Given the description of an element on the screen output the (x, y) to click on. 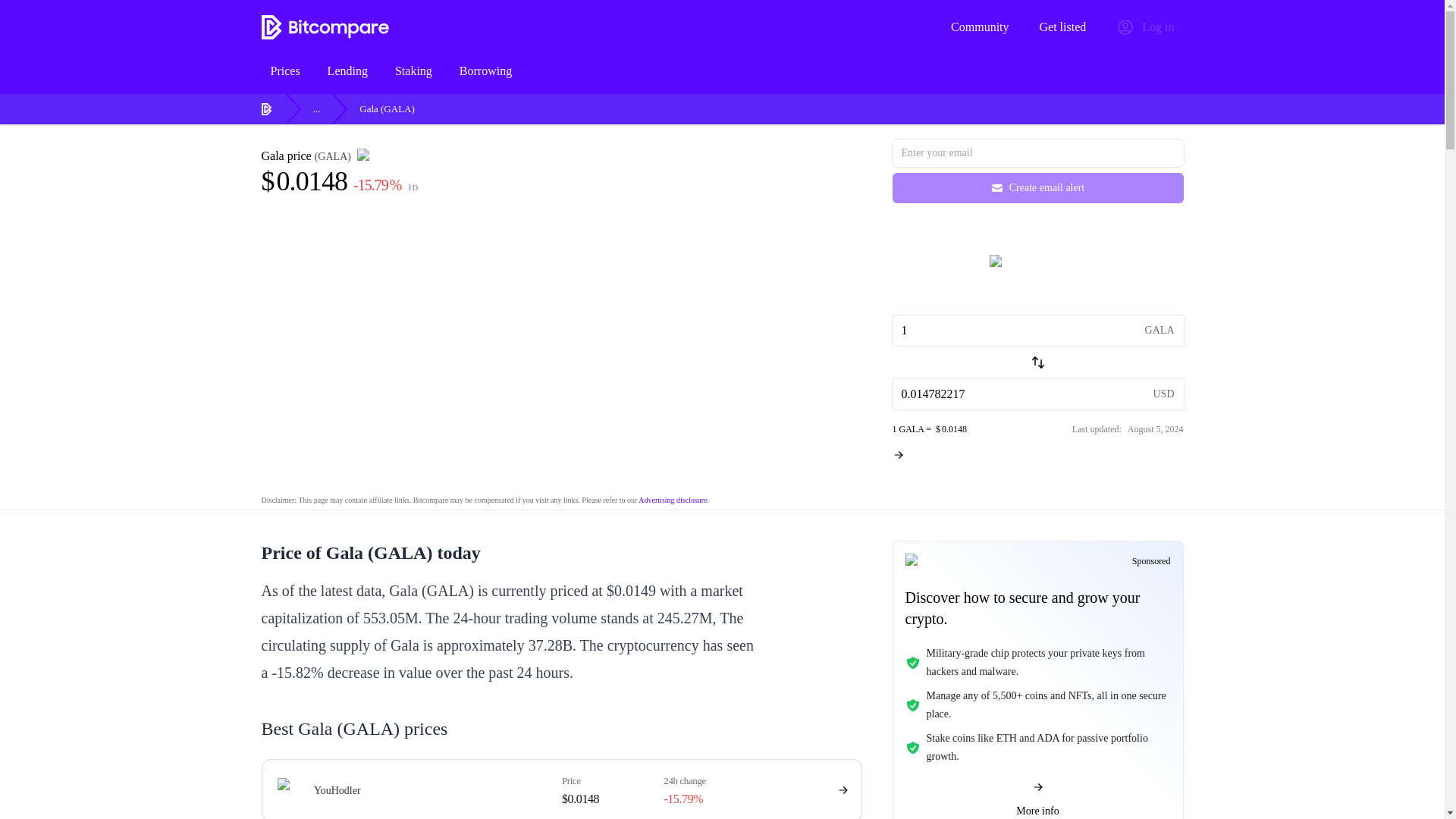
... (316, 108)
Prices (284, 70)
Log in (1144, 27)
Bitcompare (266, 109)
Borrowing (485, 70)
Create email alert (1036, 187)
Bitcompare (721, 70)
Staking (324, 27)
1 (413, 70)
Lending (1036, 330)
Community (347, 70)
Advertising disclosure (979, 27)
0.014782217 (672, 500)
Get listed (1036, 394)
